Given the description of an element on the screen output the (x, y) to click on. 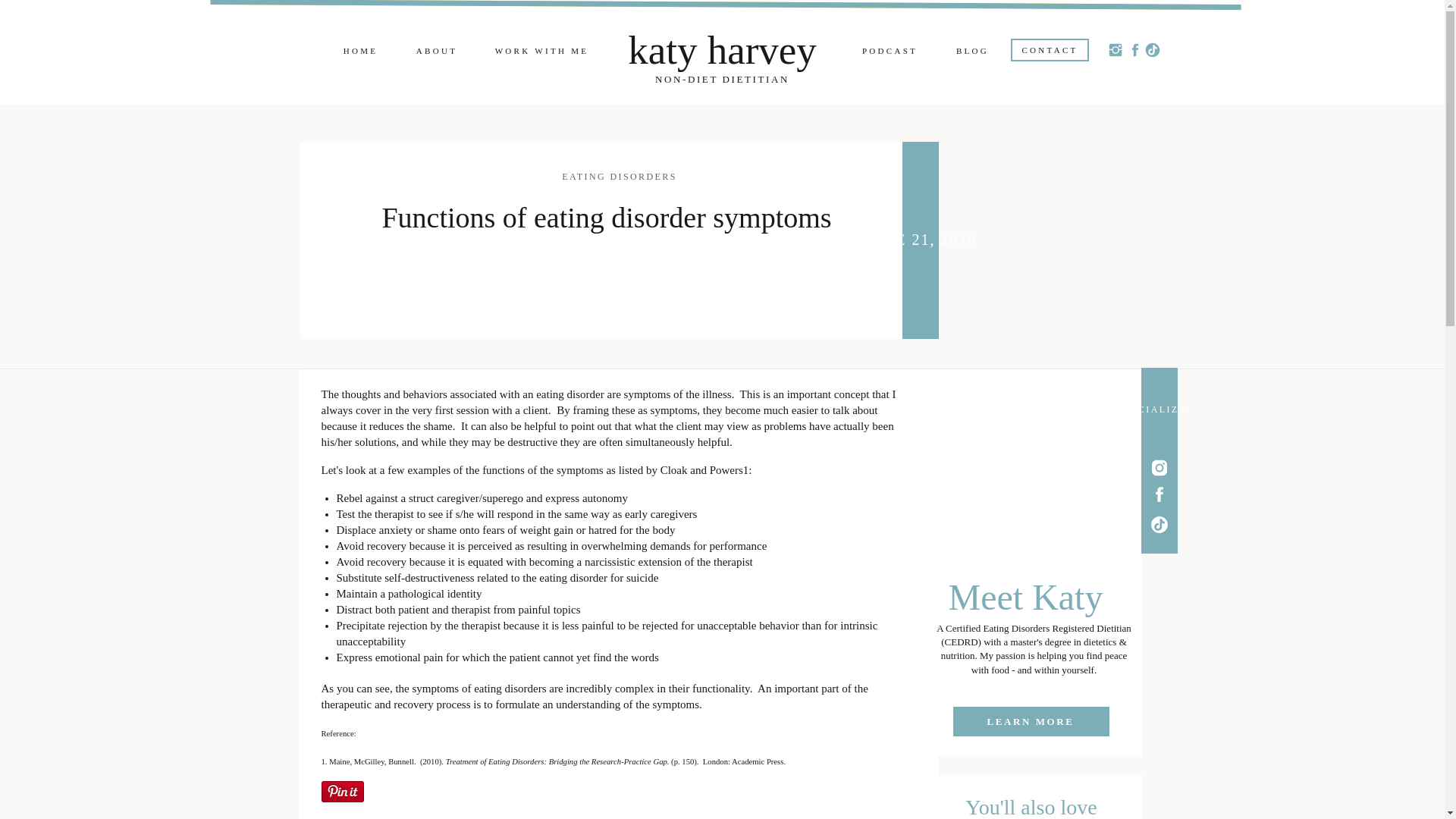
EATING DISORDERS (619, 176)
SOCIALIZE (1155, 413)
ABOUT (435, 51)
PODCAST (888, 51)
WORK WITH ME (541, 51)
HOME (360, 51)
katy harvey (721, 50)
LEARN MORE (1029, 721)
CONTACT (1049, 51)
BLOG (971, 51)
